Given the description of an element on the screen output the (x, y) to click on. 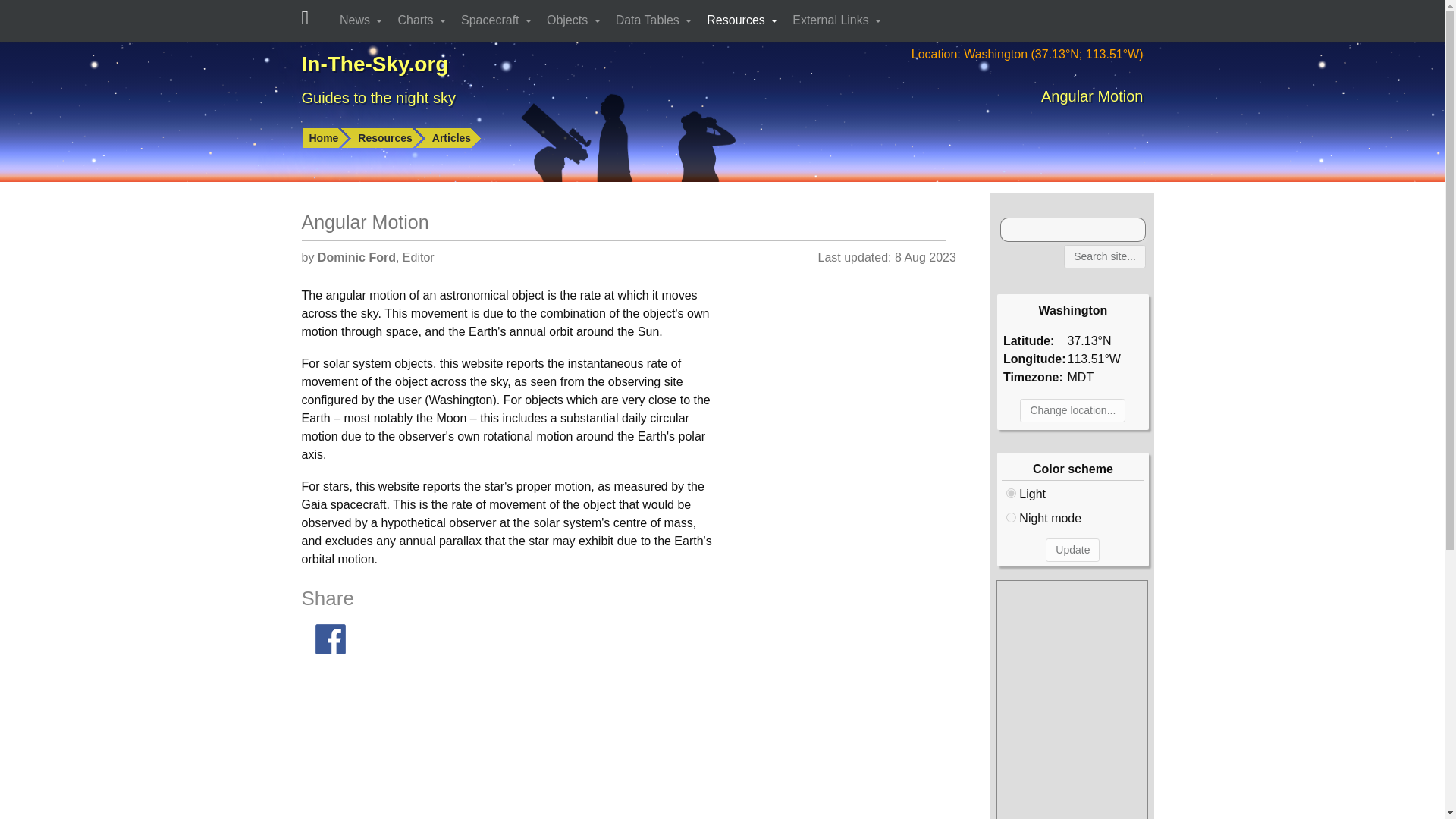
Home (326, 137)
1 (1011, 517)
Charts (422, 20)
In-The-Sky.org (374, 64)
0 (1011, 492)
Change location... (1072, 410)
News (362, 20)
Articles (454, 137)
Search site... (1104, 256)
Resources (388, 137)
